Given the description of an element on the screen output the (x, y) to click on. 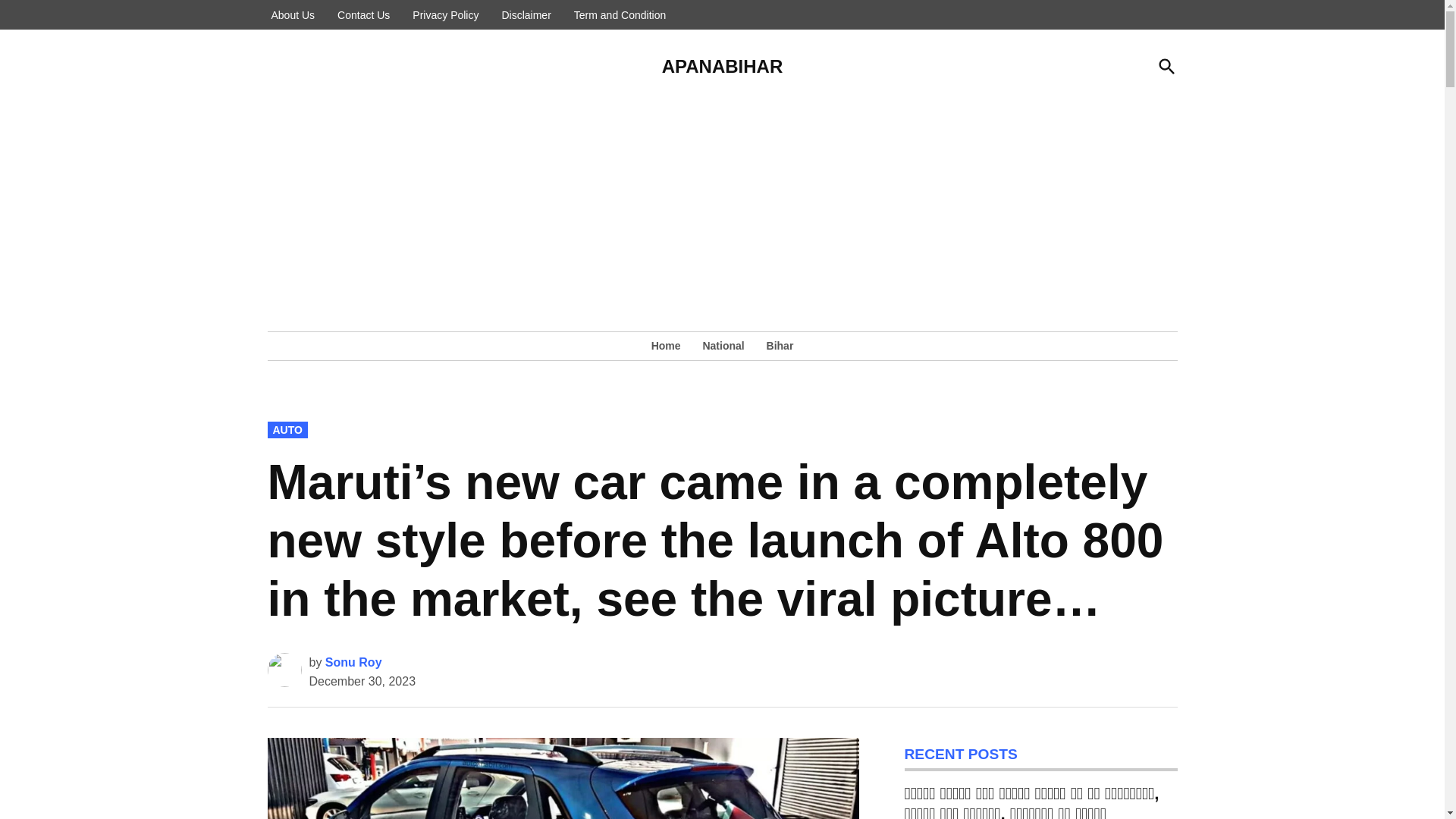
Disclaimer (525, 14)
APANABIHAR (722, 66)
Open Search (1166, 66)
Bihar (775, 345)
Contact Us (363, 14)
About Us (292, 14)
Sonu Roy (352, 662)
Home (669, 345)
Term and Condition (619, 14)
AUTO (286, 429)
Privacy Policy (445, 14)
National (722, 345)
